Given the description of an element on the screen output the (x, y) to click on. 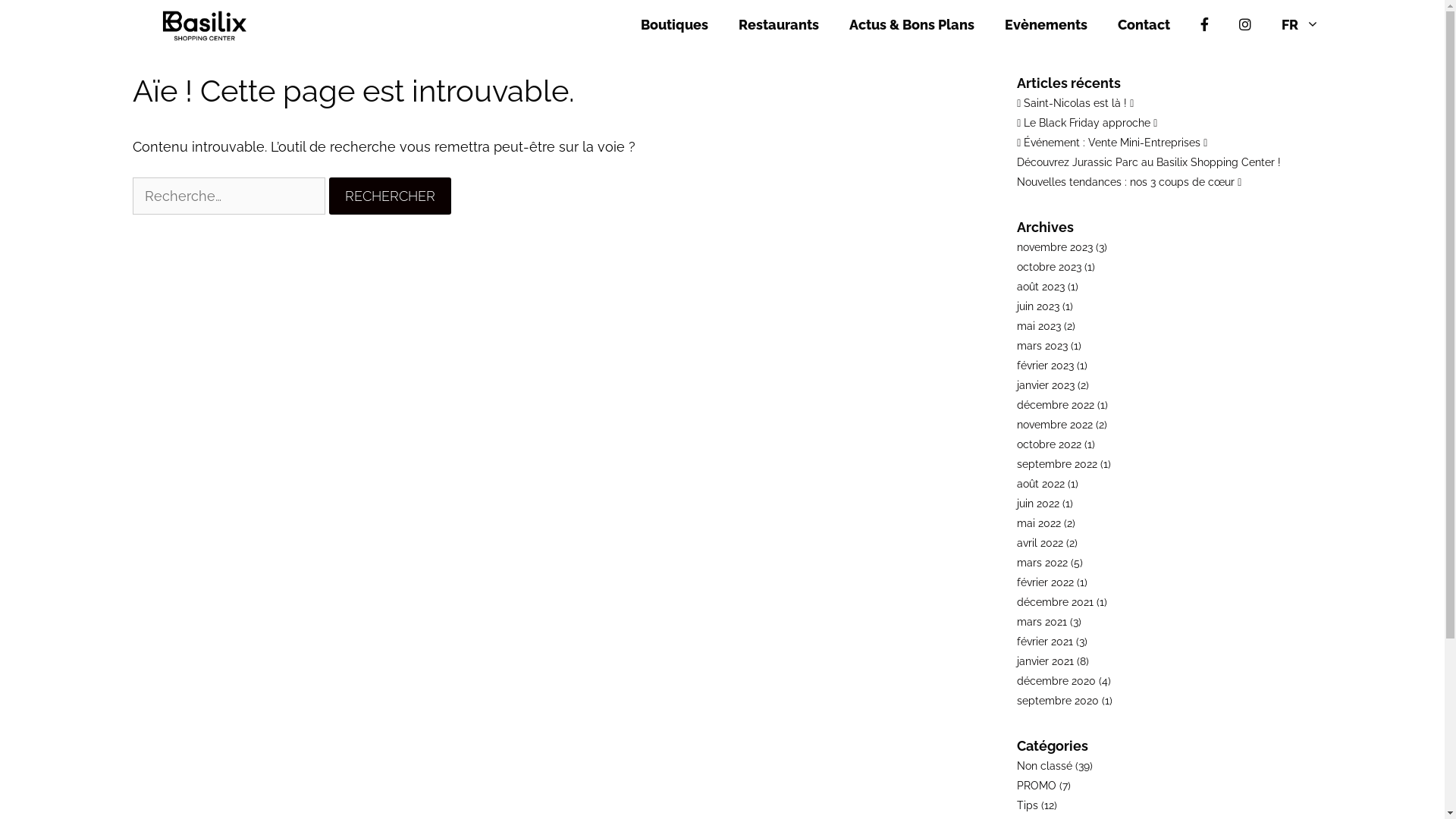
janvier 2021 Element type: text (1044, 661)
PROMO Element type: text (1036, 785)
mai 2023 Element type: text (1038, 326)
Restaurants Element type: text (778, 25)
novembre 2023 Element type: text (1054, 247)
septembre 2020 Element type: text (1057, 700)
juin 2022 Element type: text (1037, 503)
Actus & Bons Plans Element type: text (911, 25)
avril 2022 Element type: text (1039, 542)
octobre 2022 Element type: text (1048, 444)
Tips Element type: text (1027, 805)
septembre 2022 Element type: text (1056, 464)
Rechercher Element type: text (390, 195)
juin 2023 Element type: text (1037, 306)
Basilix Shopping Center Element type: hover (204, 25)
janvier 2023 Element type: text (1045, 385)
octobre 2023 Element type: text (1048, 266)
mars 2023 Element type: text (1041, 345)
mai 2022 Element type: text (1038, 523)
Contact Element type: text (1143, 25)
novembre 2022 Element type: text (1054, 424)
FR Element type: text (1300, 25)
mars 2022 Element type: text (1041, 562)
mars 2021 Element type: text (1041, 621)
Boutiques Element type: text (674, 25)
Basilix Shopping Center Element type: hover (208, 25)
